Given the description of an element on the screen output the (x, y) to click on. 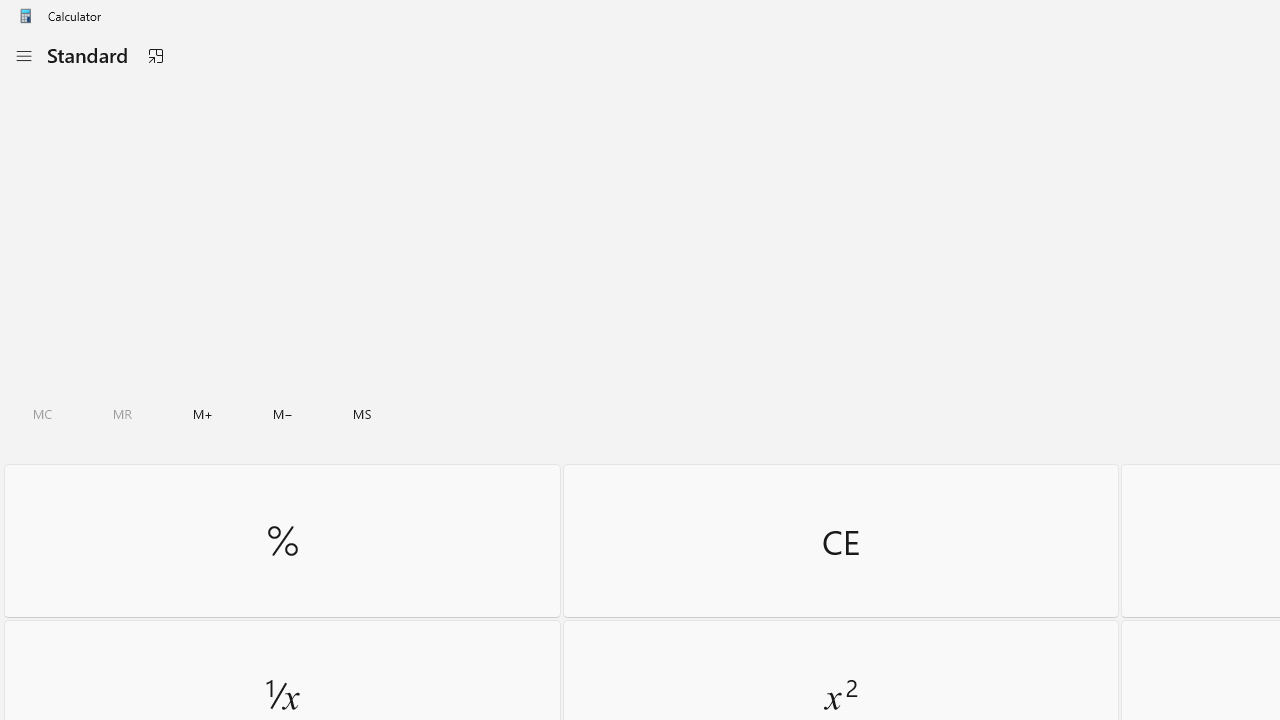
Keep on top (155, 56)
Open Navigation (23, 56)
Clear entry (840, 540)
Memory add (202, 414)
Memory recall (123, 414)
Percent (281, 540)
Memory store (362, 414)
Clear all memory (42, 414)
Memory subtract (283, 414)
